Given the description of an element on the screen output the (x, y) to click on. 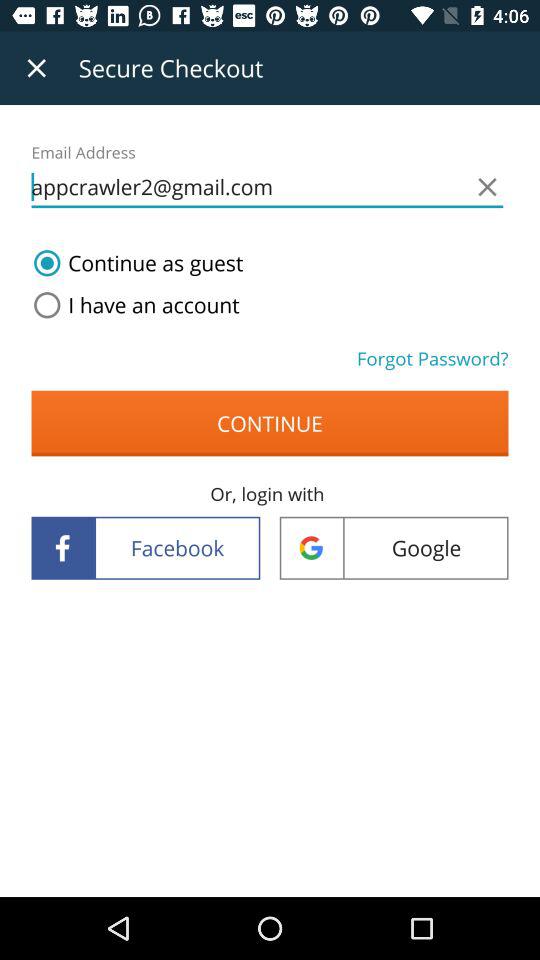
turn off item to the left of secure checkout (36, 68)
